Given the description of an element on the screen output the (x, y) to click on. 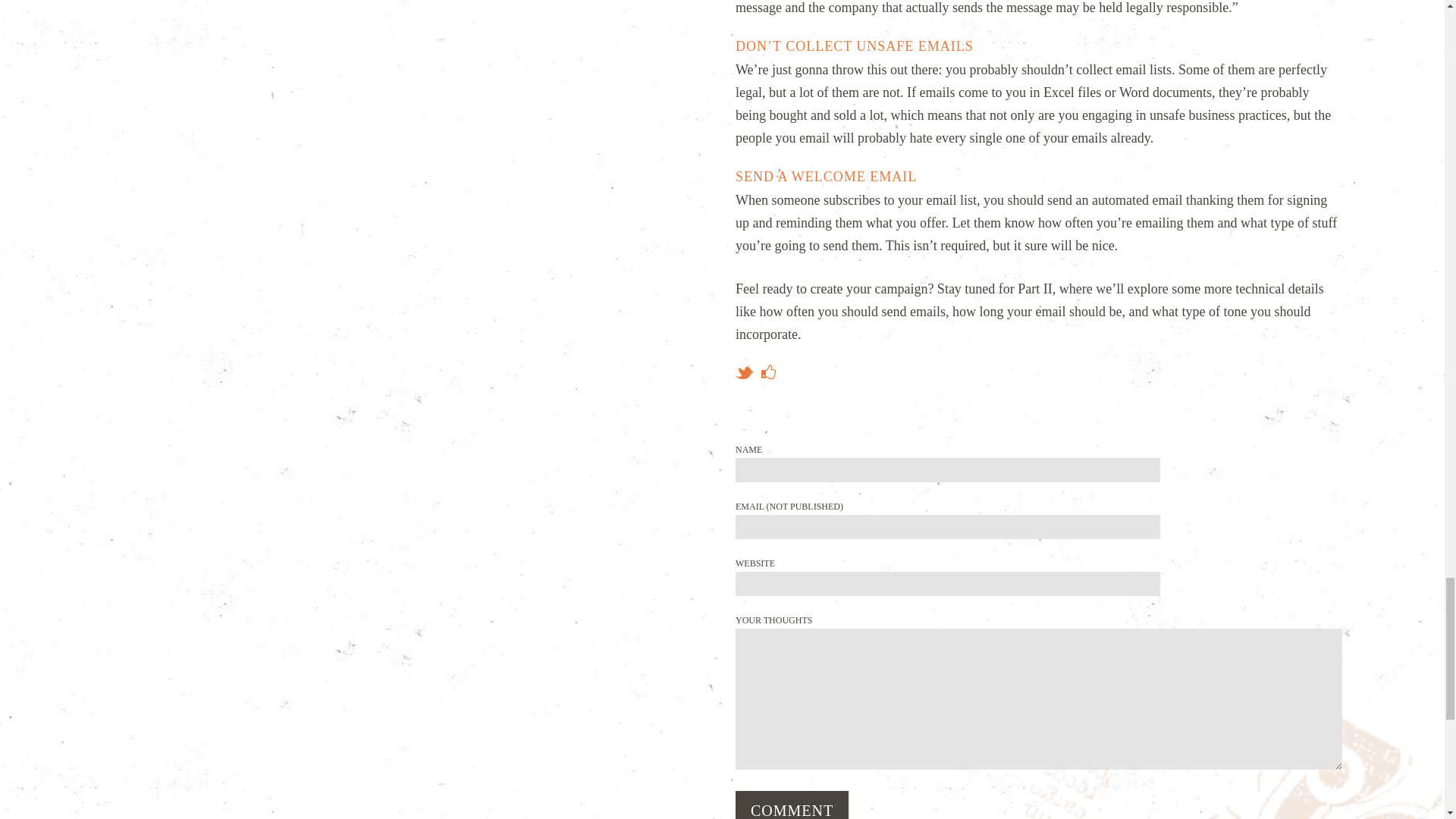
Comment (791, 805)
Share This (768, 371)
Like on Facebook (768, 371)
Comment (791, 805)
Tweet This (744, 372)
Tweet This (744, 372)
